Given the description of an element on the screen output the (x, y) to click on. 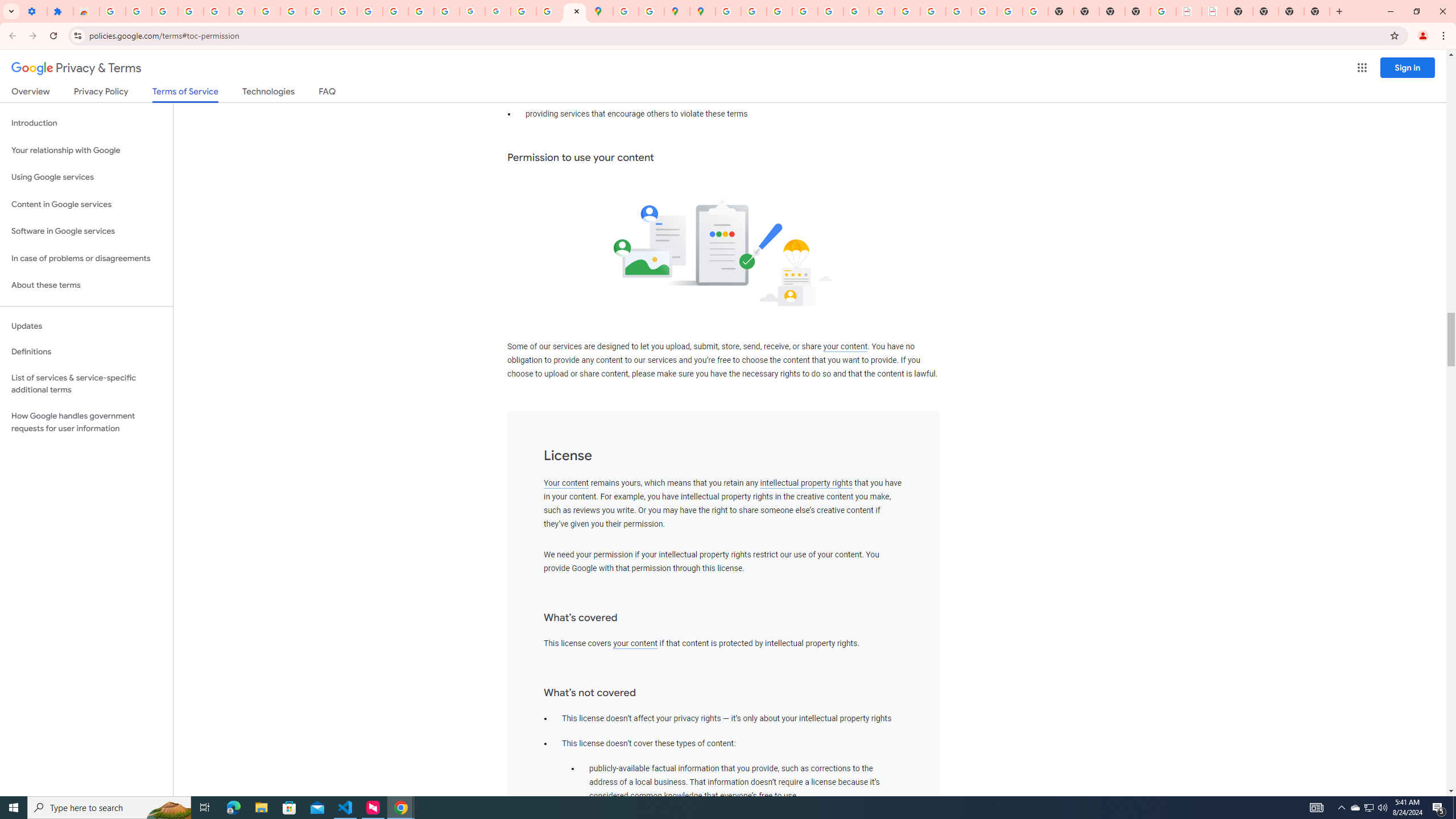
About these terms (86, 284)
Using Google services (86, 176)
Your content (566, 482)
How Google handles government requests for user information (86, 422)
New Tab (1316, 11)
Delete photos & videos - Computer - Google Photos Help (165, 11)
Settings - On startup (34, 11)
Introduction (86, 122)
intellectual property rights (806, 482)
